Given the description of an element on the screen output the (x, y) to click on. 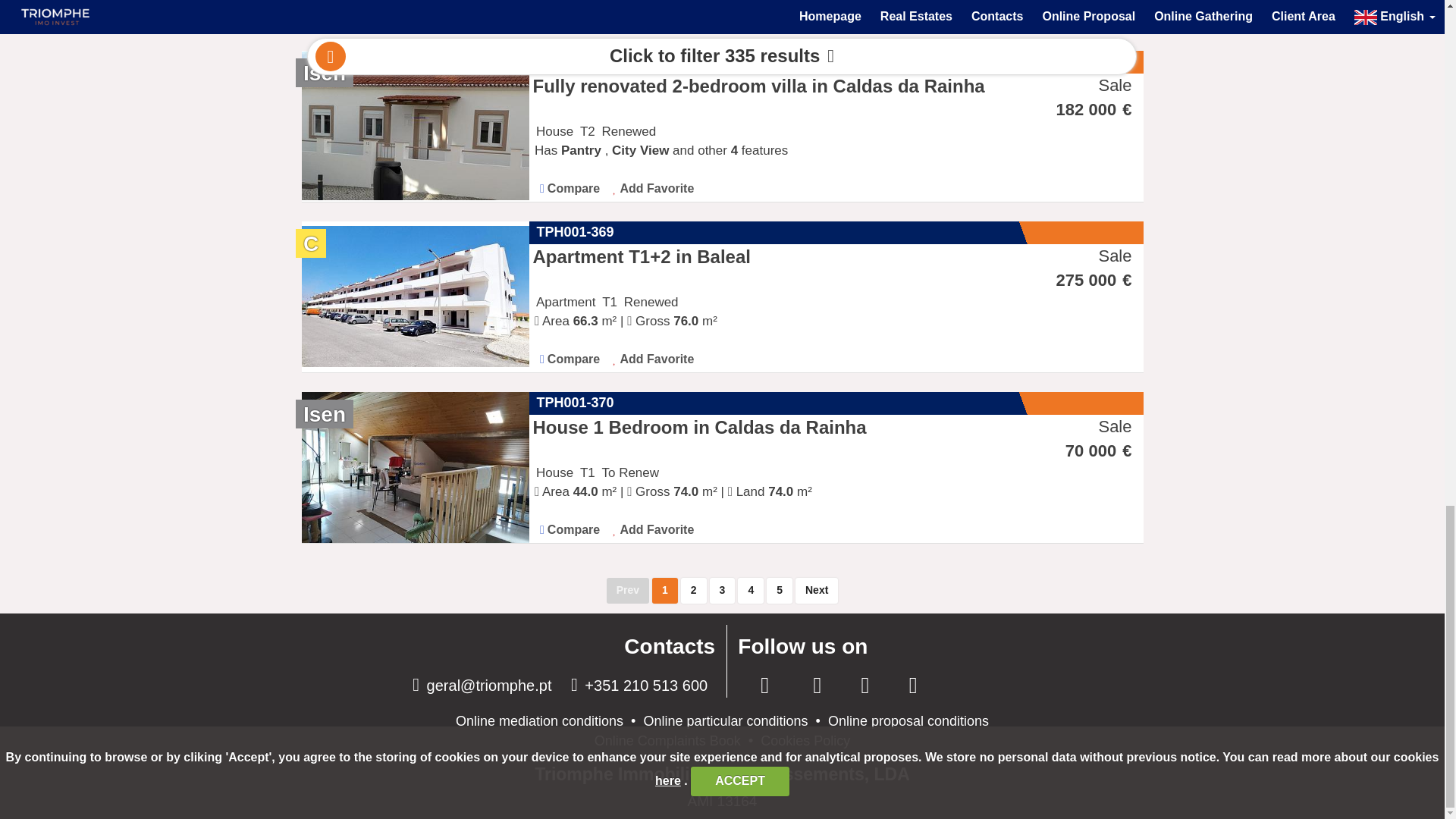
Prev (628, 590)
Carla Santos (1101, 13)
1 (665, 590)
